Given the description of an element on the screen output the (x, y) to click on. 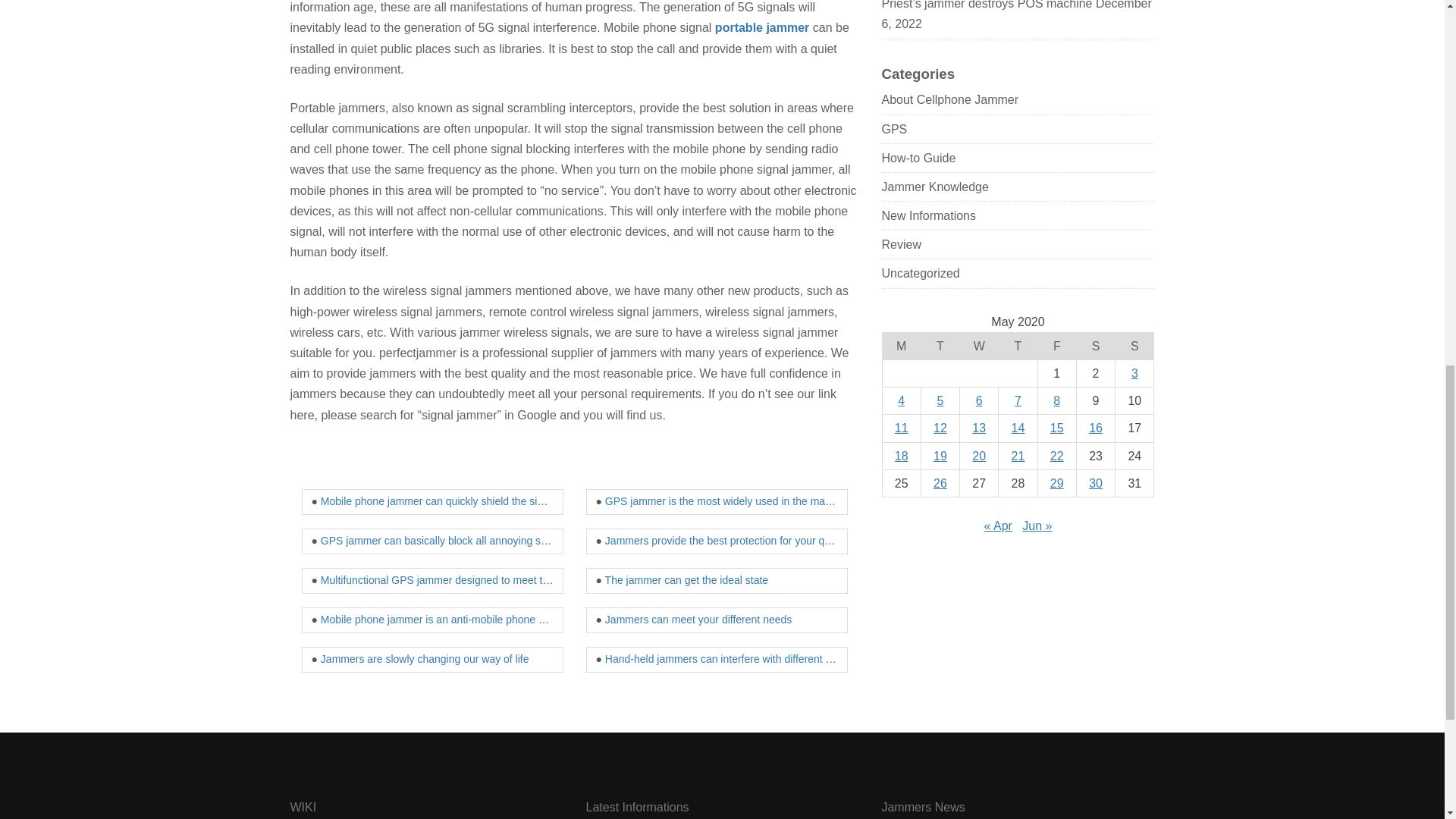
Mobile phone jammer can quickly shield the signal (438, 500)
Saturday (1095, 345)
Wednesday (978, 345)
Mobile phone jammer is an anti-mobile phone signal device (459, 619)
Monday (901, 345)
GPS jammer can basically block all annoying signals (444, 540)
The jammer can get the ideal state (686, 580)
Jammers can meet your different needs (698, 619)
portable jammer (761, 27)
GPS jammer is the most widely used in the market (724, 500)
Jammers are slowly changing our way of life (424, 658)
Jammers are slowly changing our way of life (424, 658)
Tuesday (939, 345)
